Given the description of an element on the screen output the (x, y) to click on. 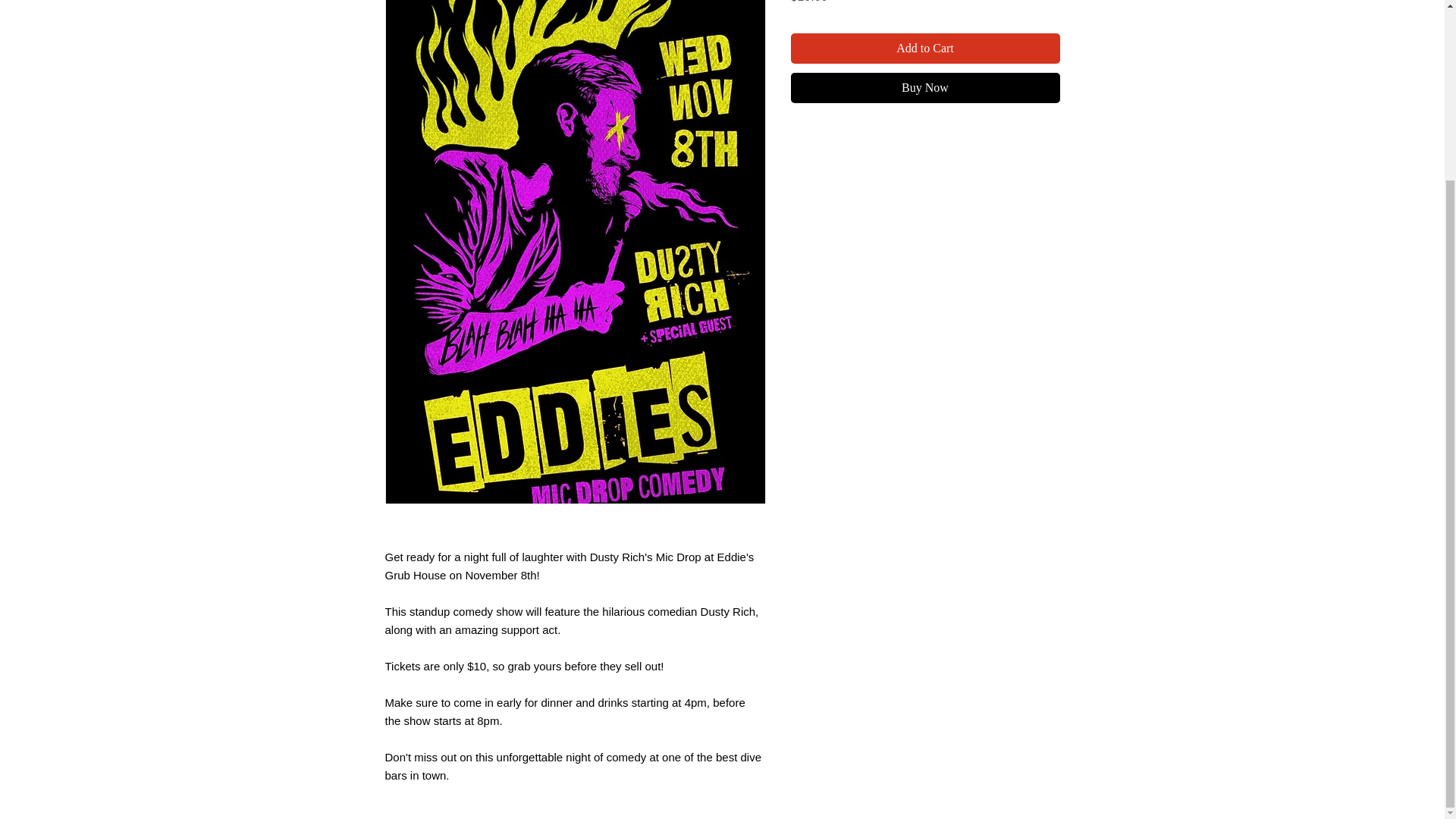
Add to Cart (924, 48)
Buy Now (924, 87)
